Given the description of an element on the screen output the (x, y) to click on. 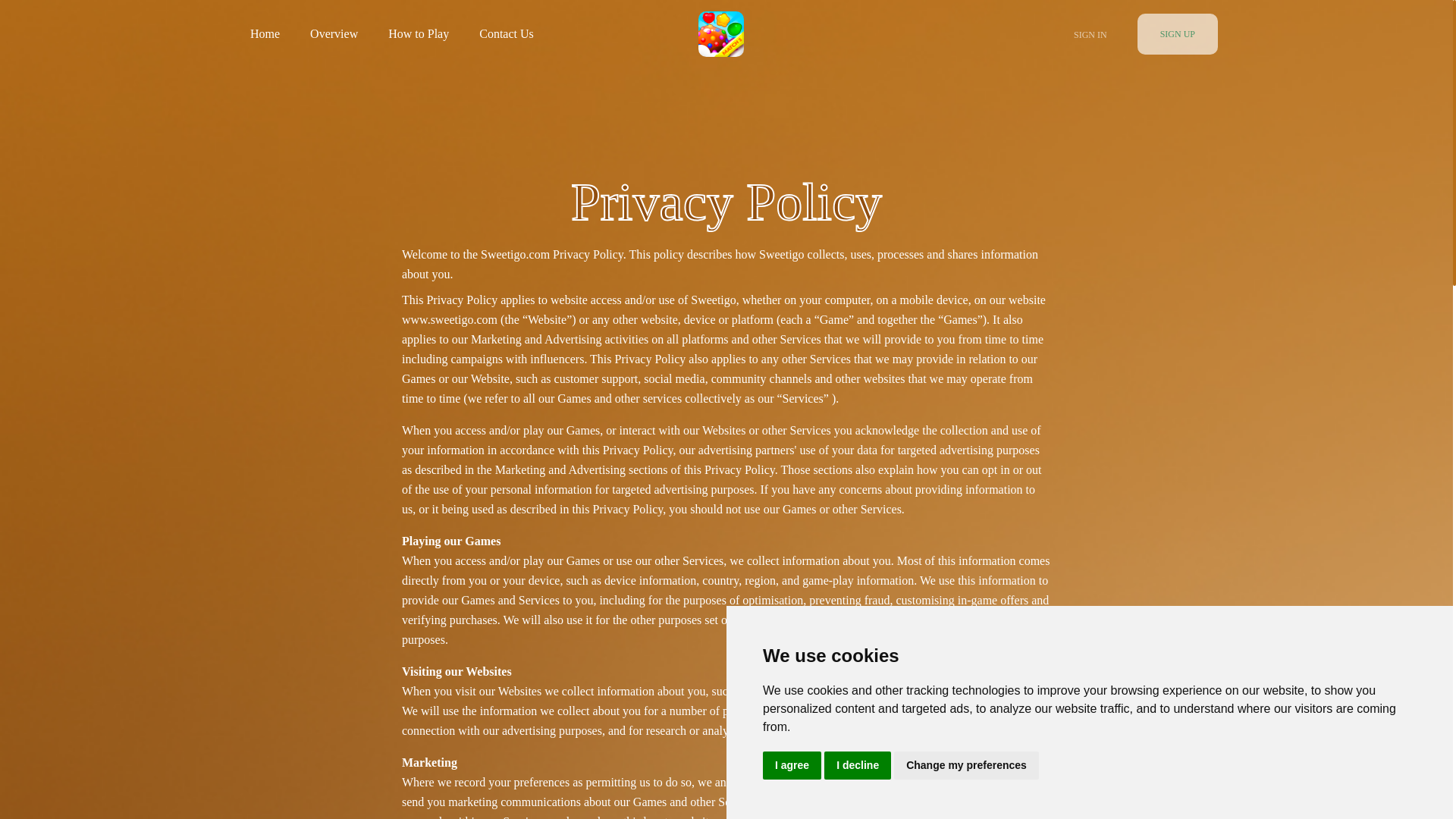
Contact Us (506, 34)
Overview (333, 34)
I decline (857, 765)
SIGN IN (1090, 34)
I agree (791, 765)
SIGN UP (1177, 33)
How to Play (418, 34)
Change my preferences (966, 765)
Home (264, 34)
